Given the description of an element on the screen output the (x, y) to click on. 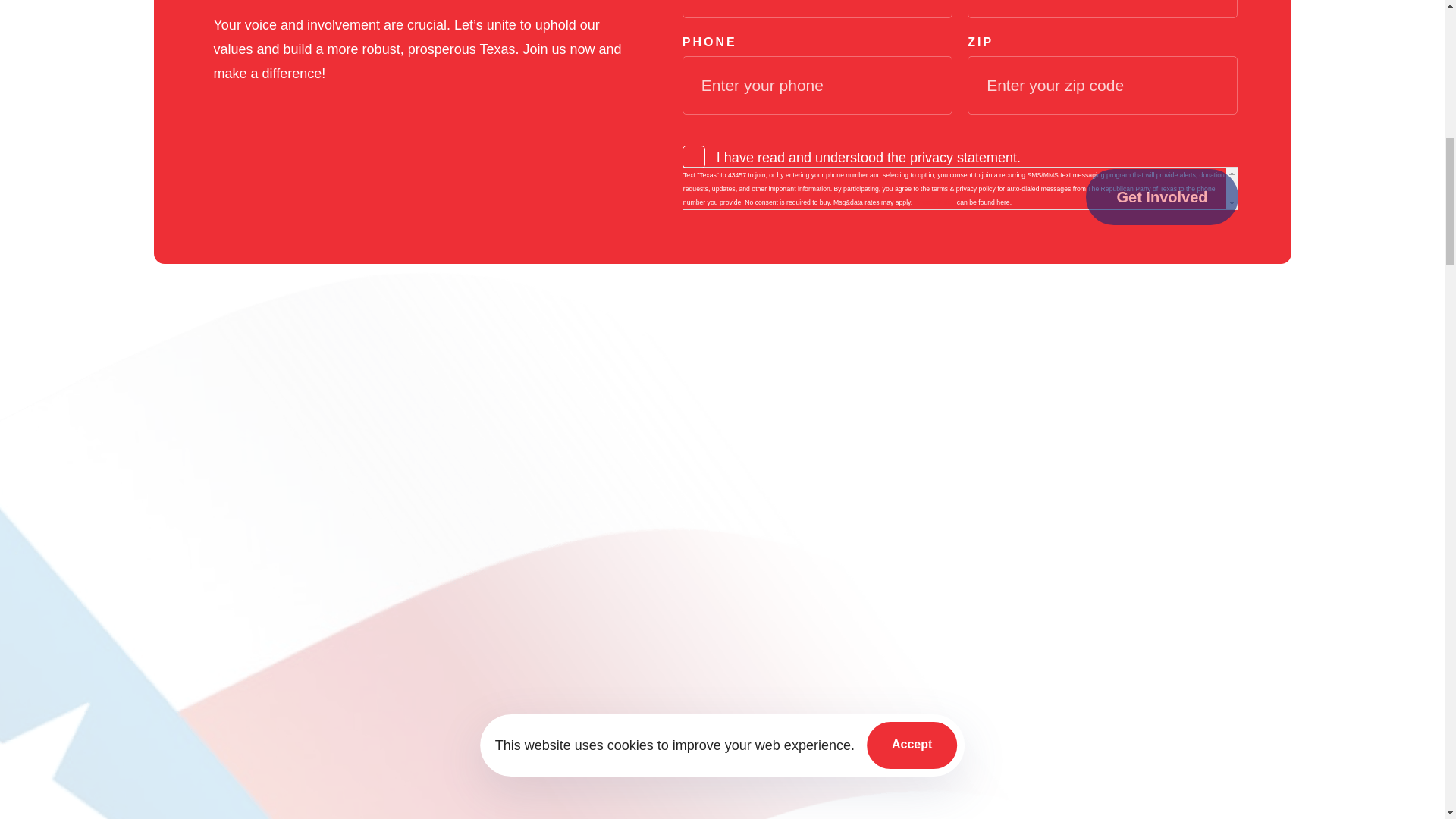
Get Involved (1161, 196)
